Given the description of an element on the screen output the (x, y) to click on. 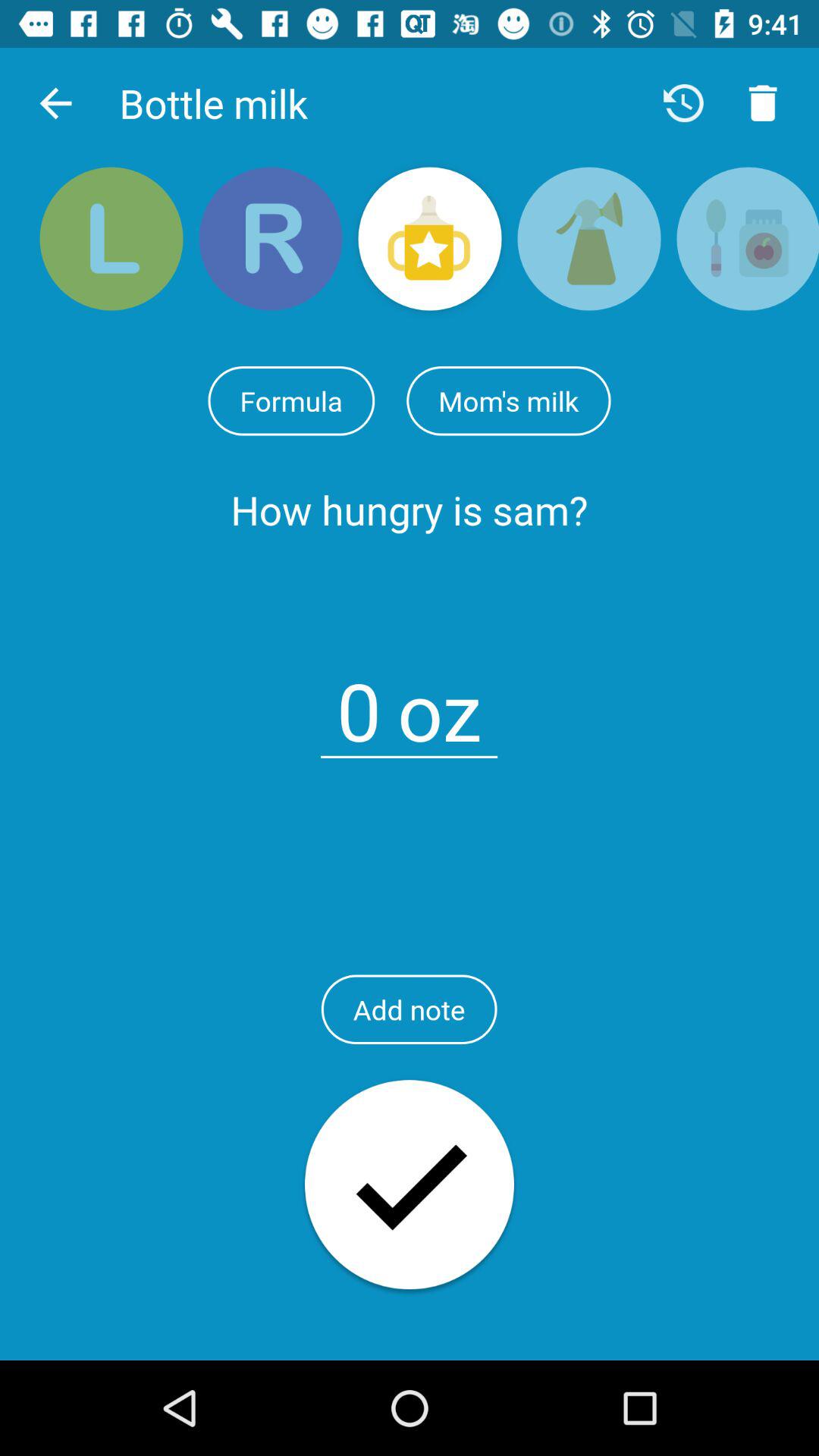
turn off the mom's milk (508, 400)
